Given the description of an element on the screen output the (x, y) to click on. 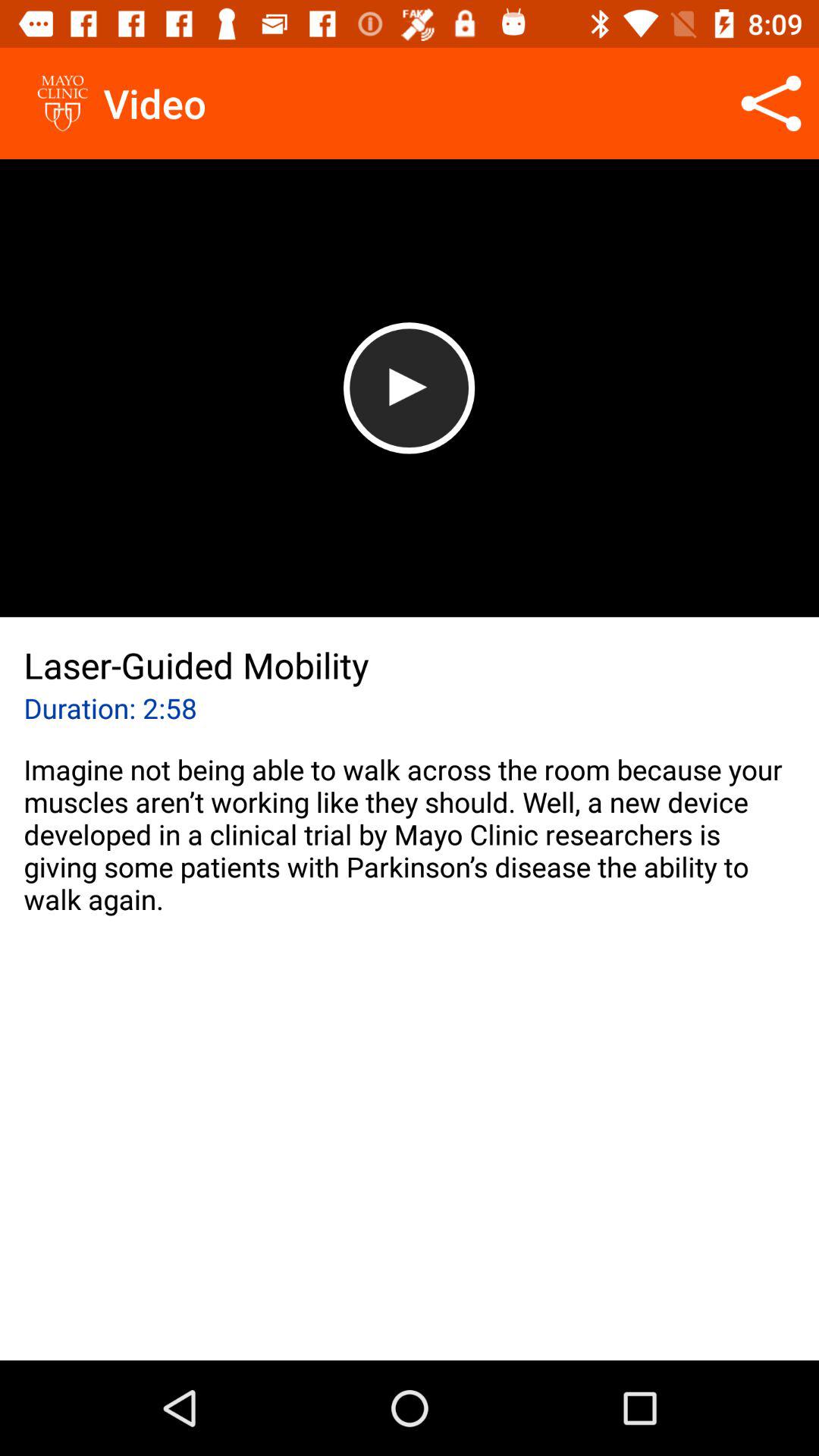
play video (408, 387)
